Given the description of an element on the screen output the (x, y) to click on. 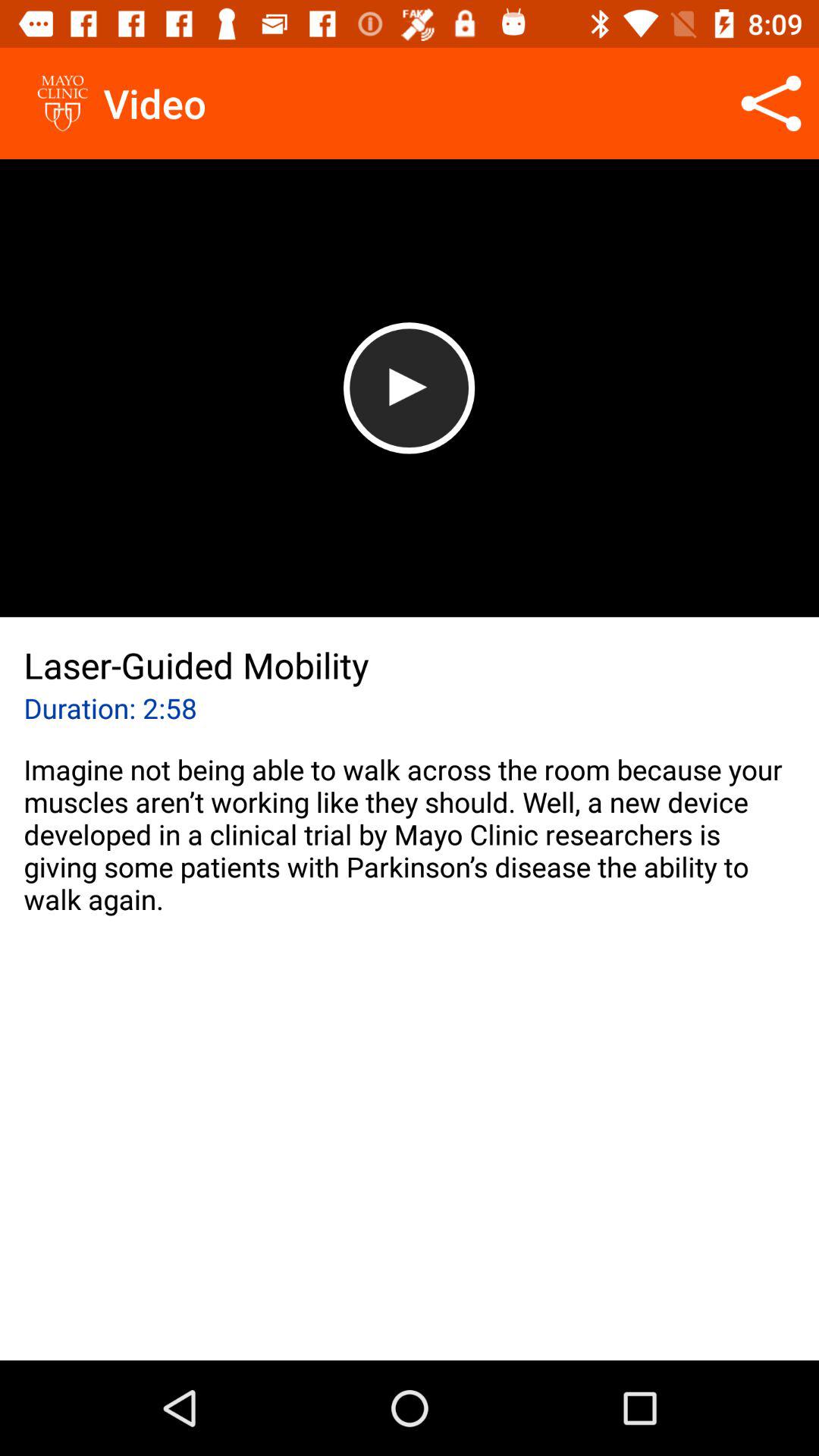
play video (408, 387)
